Given the description of an element on the screen output the (x, y) to click on. 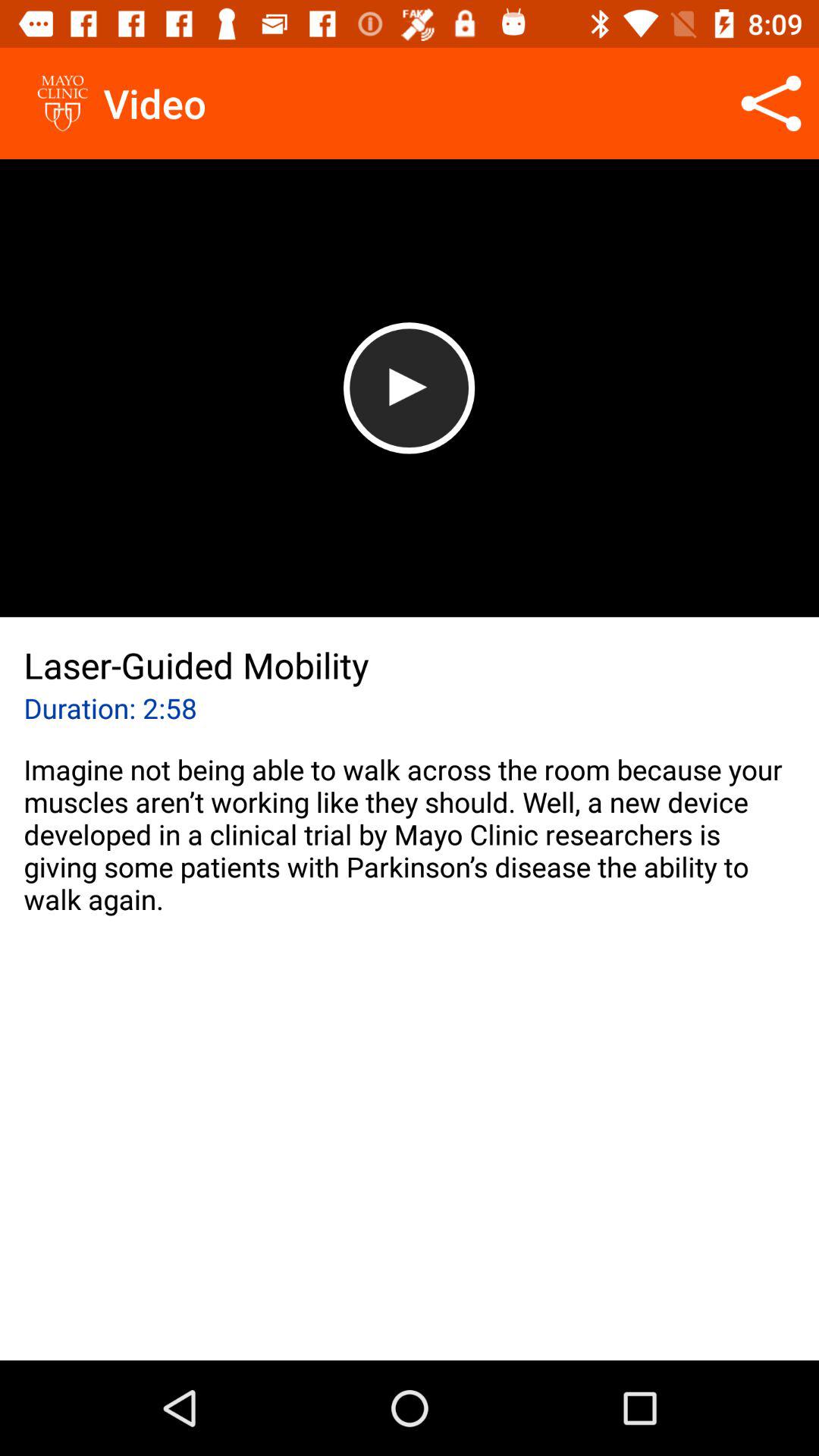
play video (408, 387)
